Given the description of an element on the screen output the (x, y) to click on. 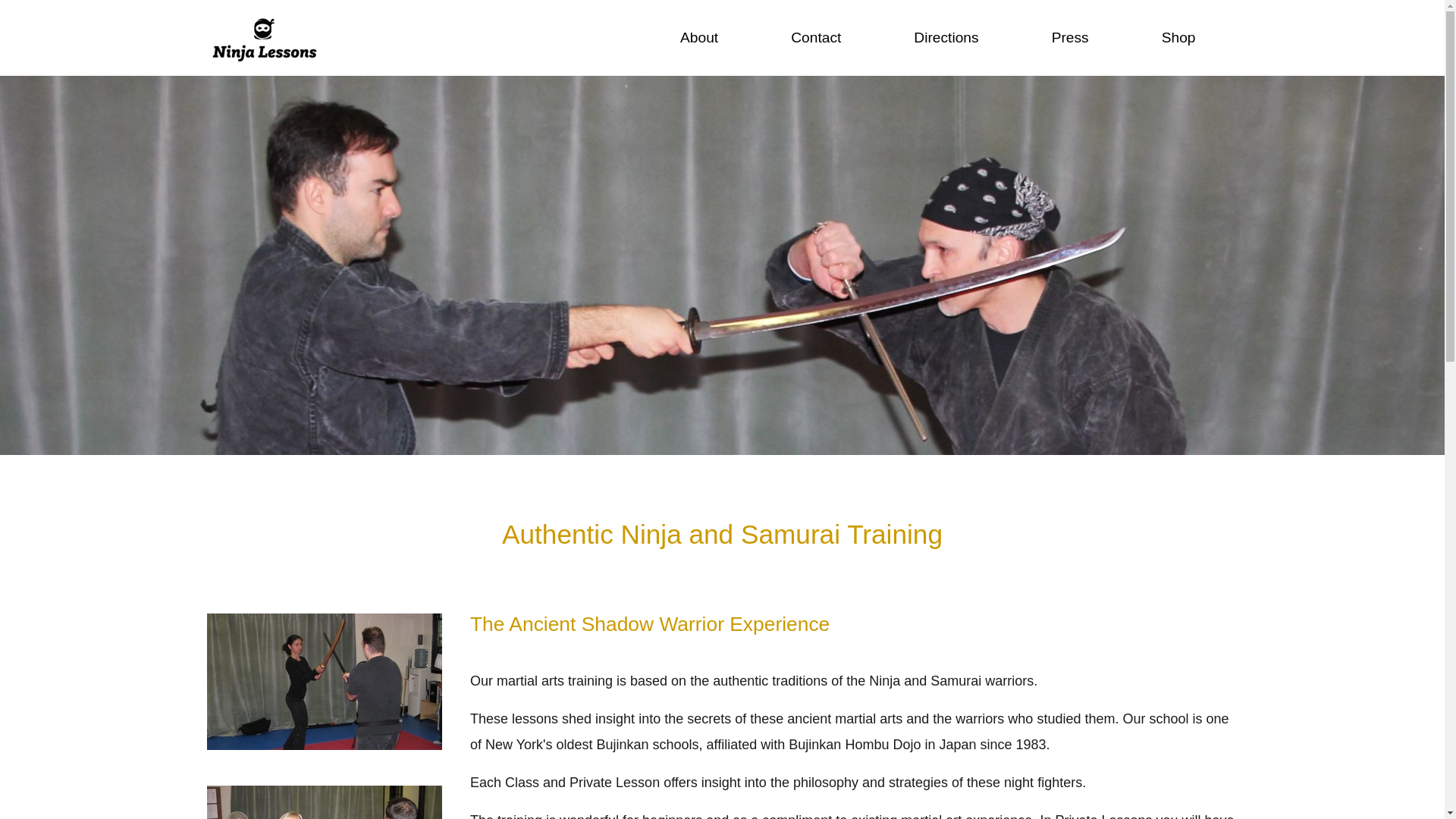
Directions (946, 37)
Contact (815, 37)
Shop (1178, 37)
Press (1070, 37)
About (698, 37)
